Given the description of an element on the screen output the (x, y) to click on. 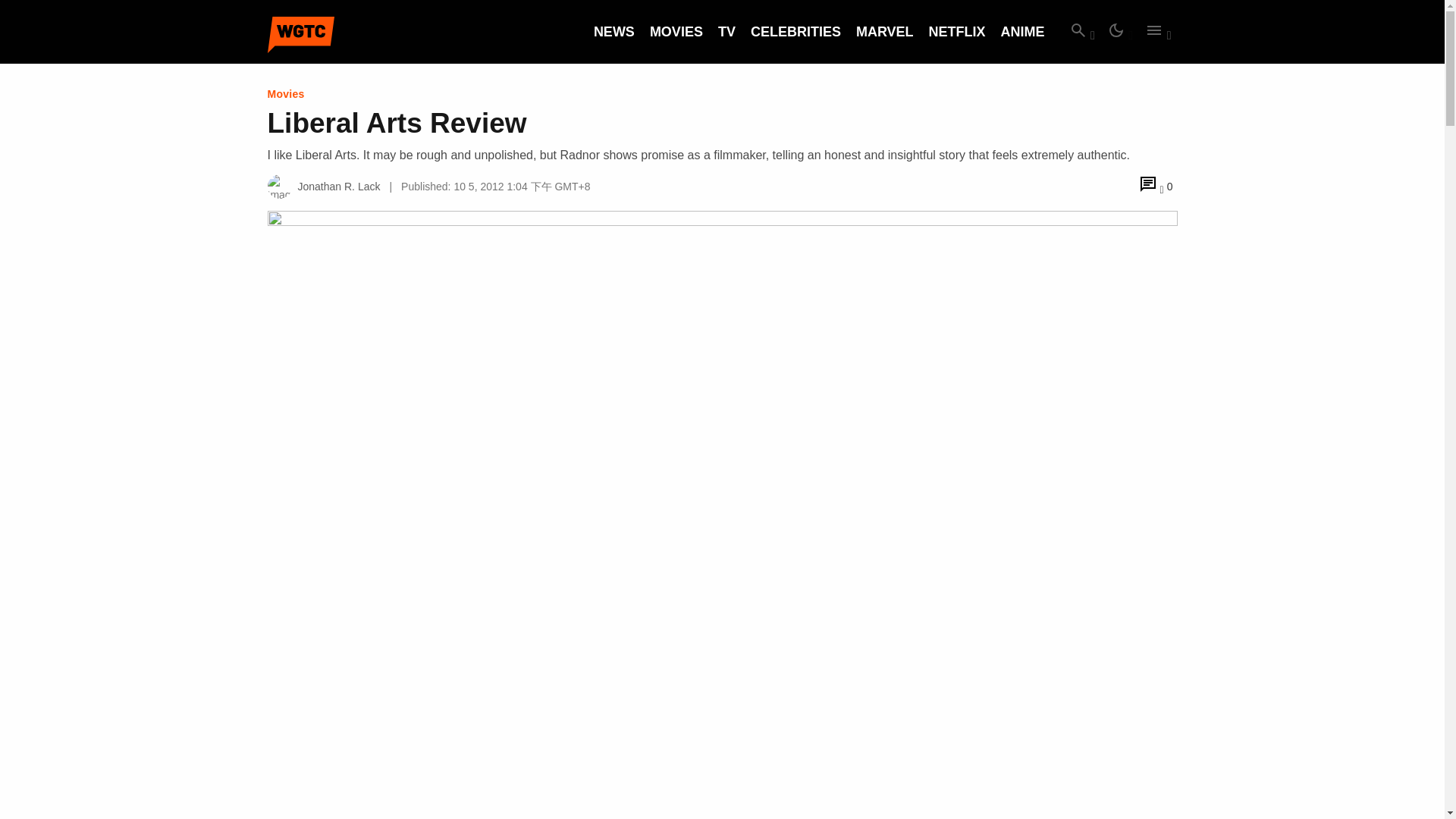
CELEBRITIES (796, 31)
MARVEL (885, 31)
ANIME (1023, 31)
TV (726, 31)
Expand Menu (1157, 31)
NEWS (614, 31)
NETFLIX (956, 31)
Search (1081, 31)
Dark Mode (1119, 31)
MOVIES (676, 31)
